Given the description of an element on the screen output the (x, y) to click on. 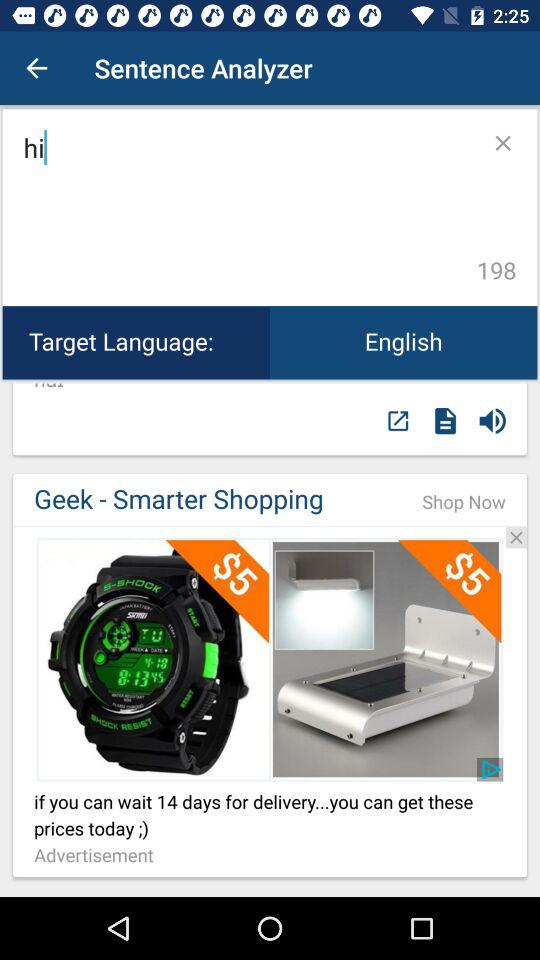
choose the item next to 198 (246, 207)
